Given the description of an element on the screen output the (x, y) to click on. 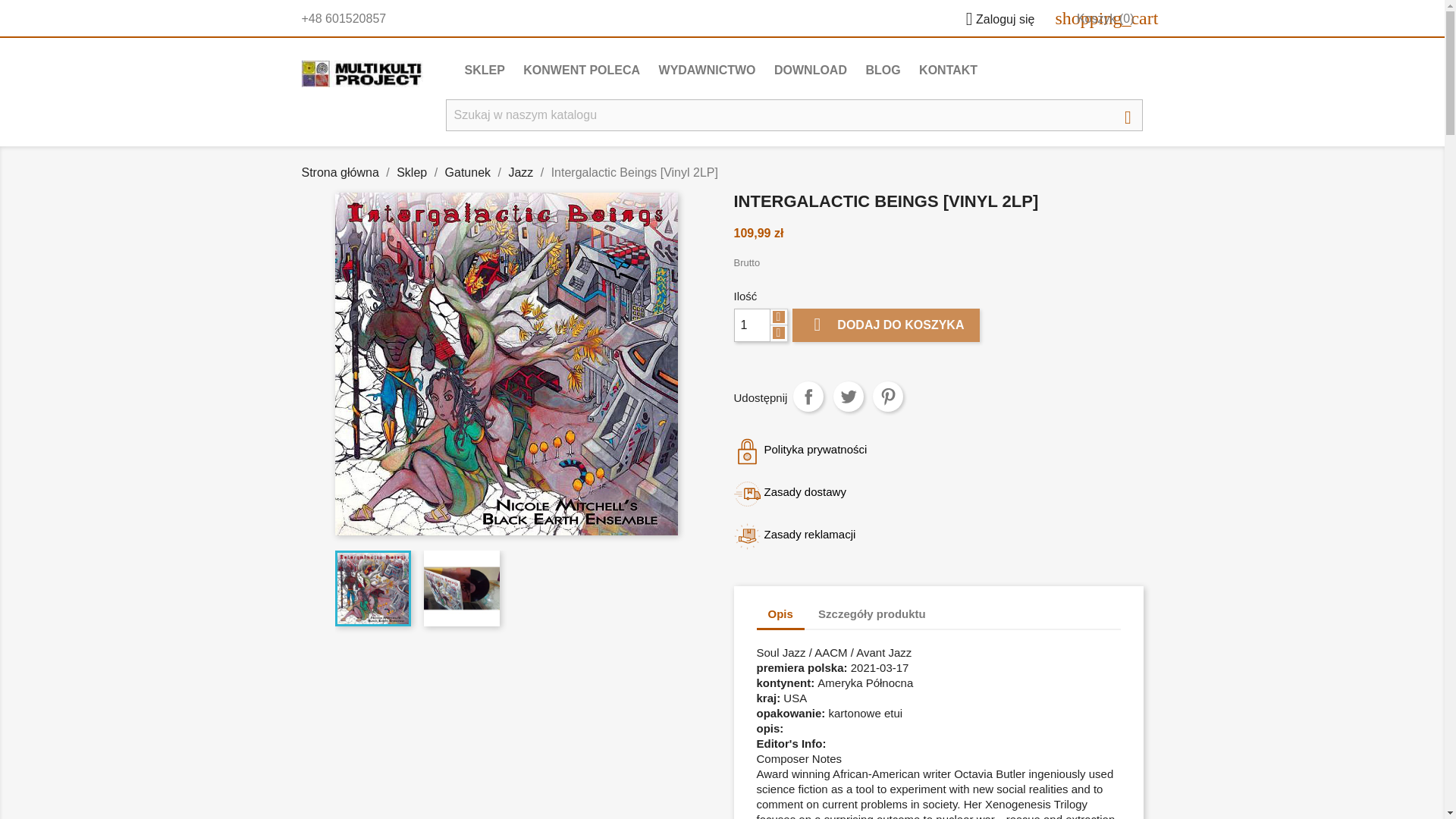
Tweetuj (847, 396)
Opis (781, 615)
Gatunek (467, 172)
KONTAKT (948, 71)
Jazz (520, 172)
Pinterest (887, 396)
Sklep (411, 172)
DOWNLOAD (810, 71)
BLOG (882, 71)
1 (751, 325)
Tweetuj (847, 396)
SKLEP (484, 71)
KONWENT POLECA (581, 71)
Pinterest (887, 396)
WYDAWNICTWO (706, 71)
